Given the description of an element on the screen output the (x, y) to click on. 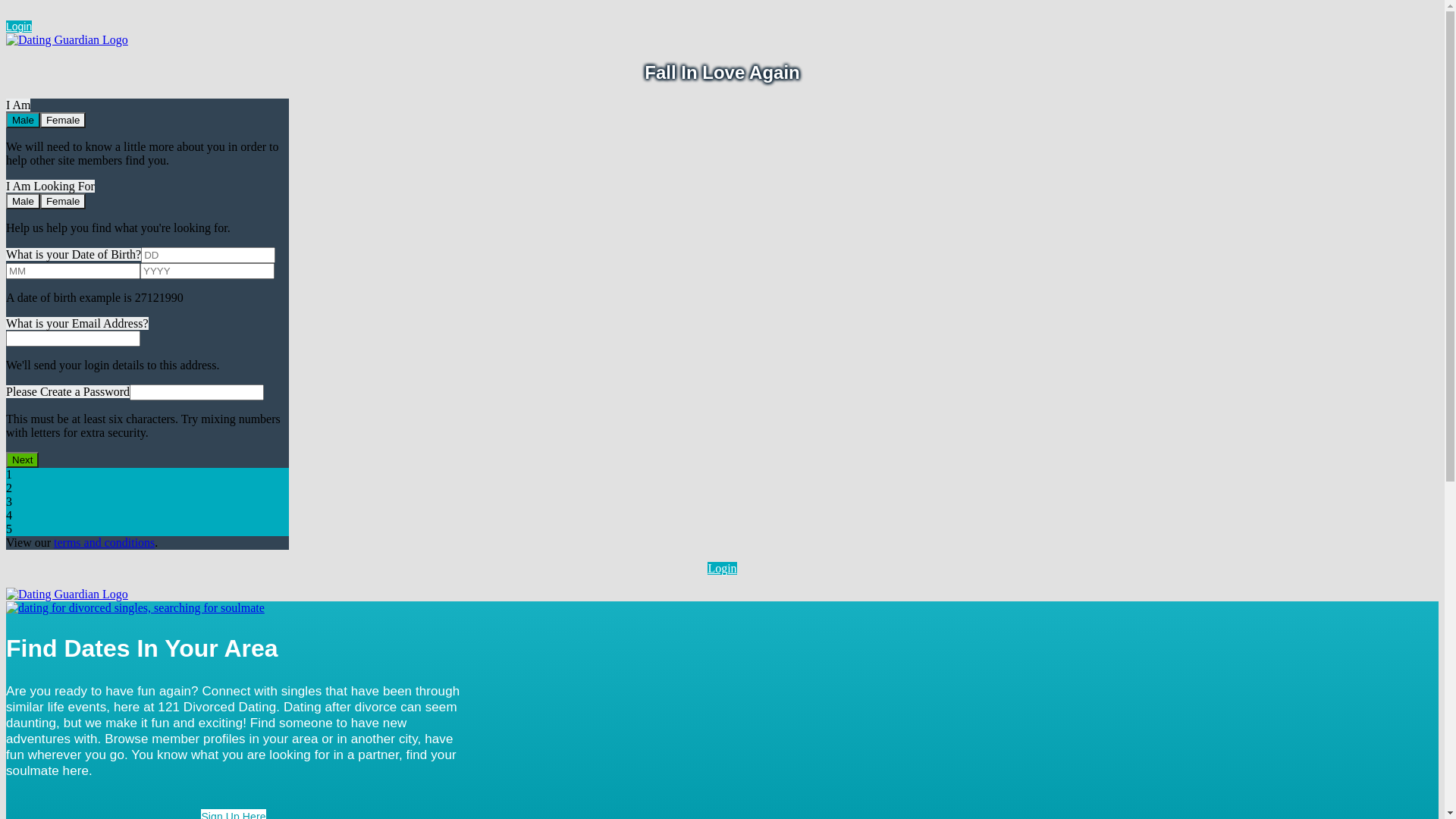
Male Element type: text (23, 201)
Login Element type: text (18, 26)
terms and conditions Element type: text (103, 542)
Login Element type: text (721, 567)
Female Element type: text (62, 201)
Male Element type: text (23, 120)
Female Element type: text (62, 120)
